Given the description of an element on the screen output the (x, y) to click on. 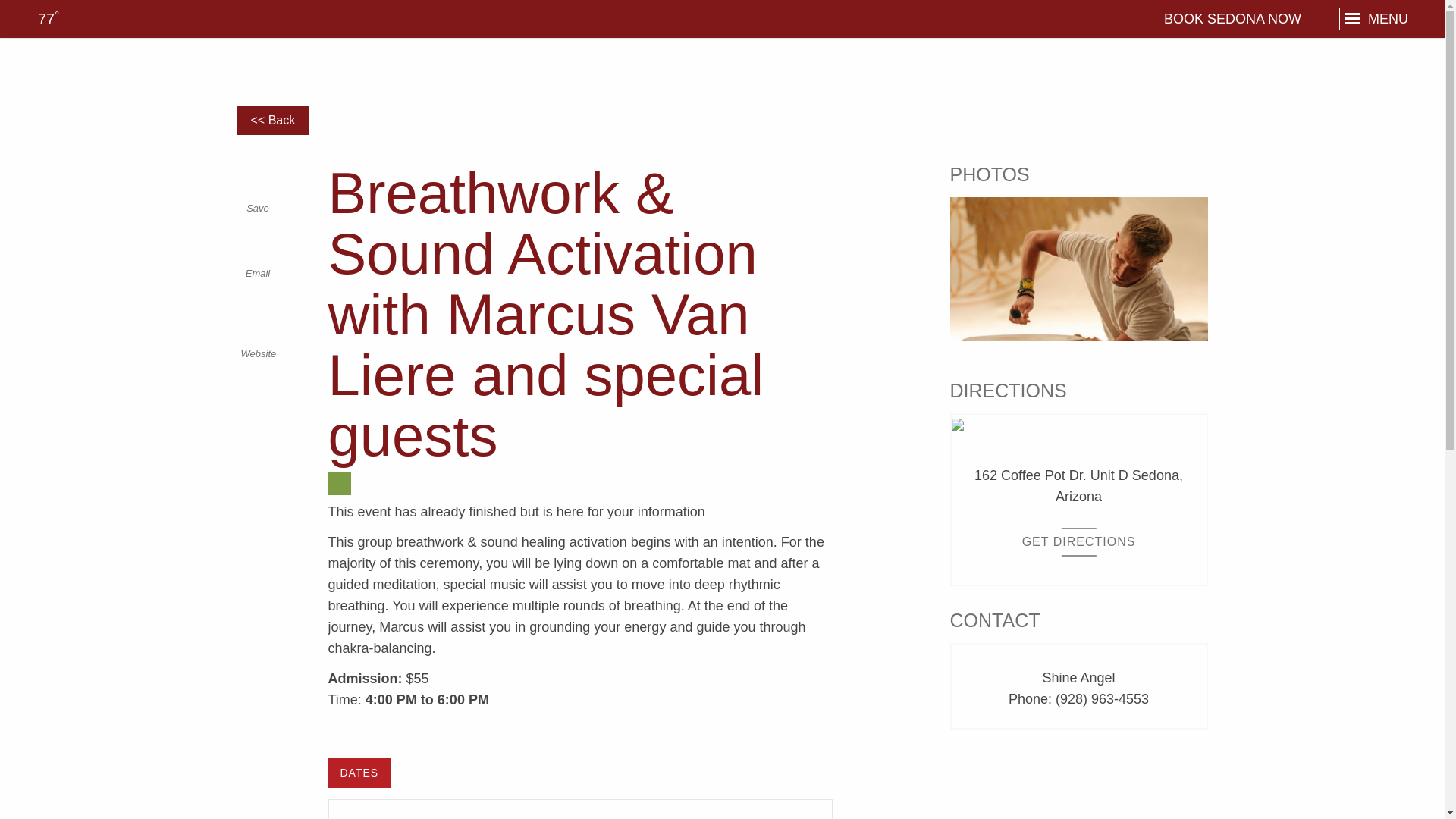
GET DIRECTIONS (1079, 541)
broken clouds (44, 18)
Email (256, 260)
DATES (358, 772)
BOOK SEDONA NOW (1228, 18)
